Given the description of an element on the screen output the (x, y) to click on. 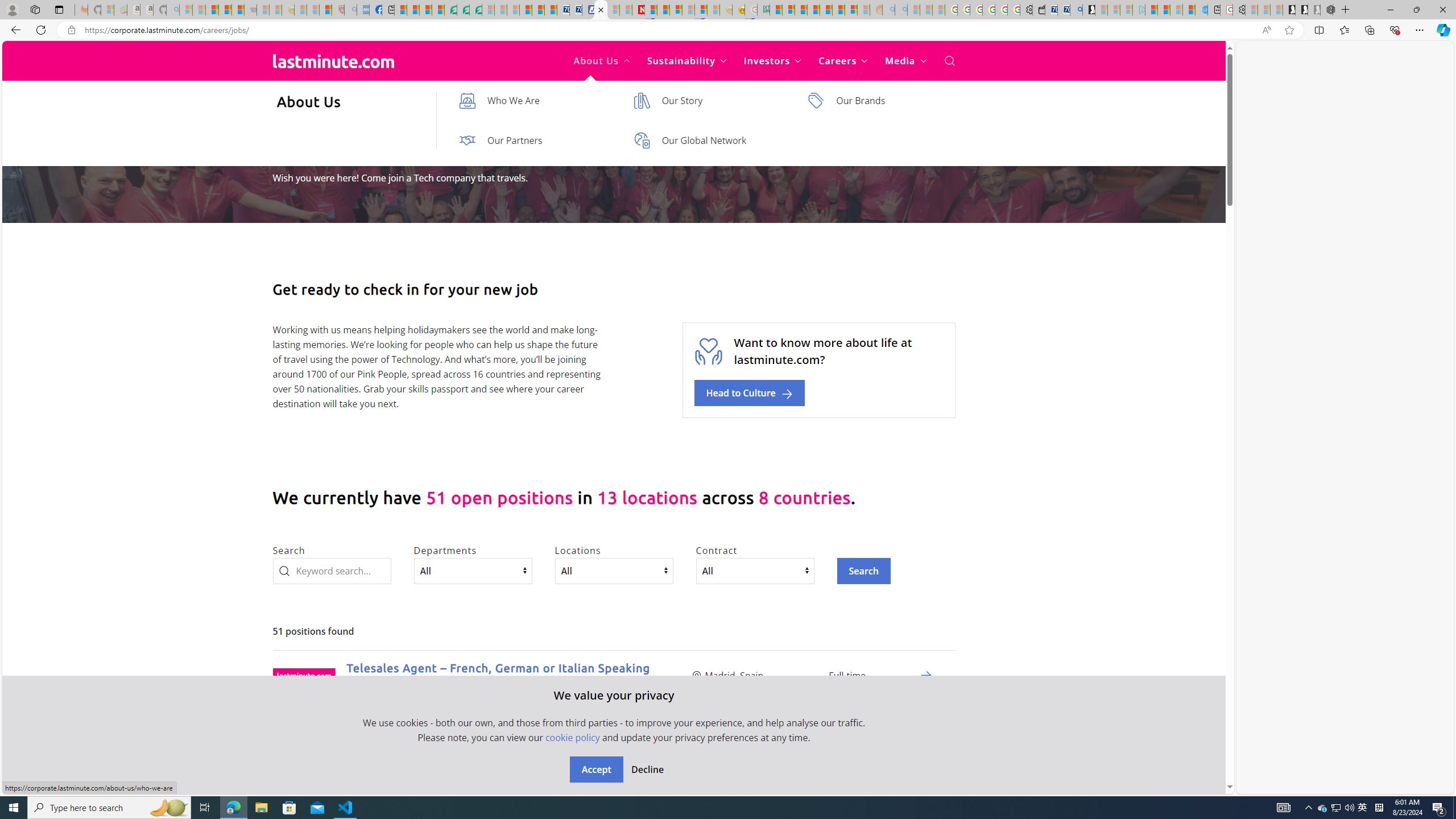
App bar (728, 29)
Cheap Hotels - Save70.com (575, 9)
Microsoft account | Privacy (788, 9)
Sustainability (686, 60)
Read full details about role: Full Stack Engineer (925, 776)
Head to Culture (749, 393)
New Report Confirms 2023 Was Record Hot | Watch (237, 9)
Student Loan Update: Forgiveness Program Ends This Month (813, 9)
